Given the description of an element on the screen output the (x, y) to click on. 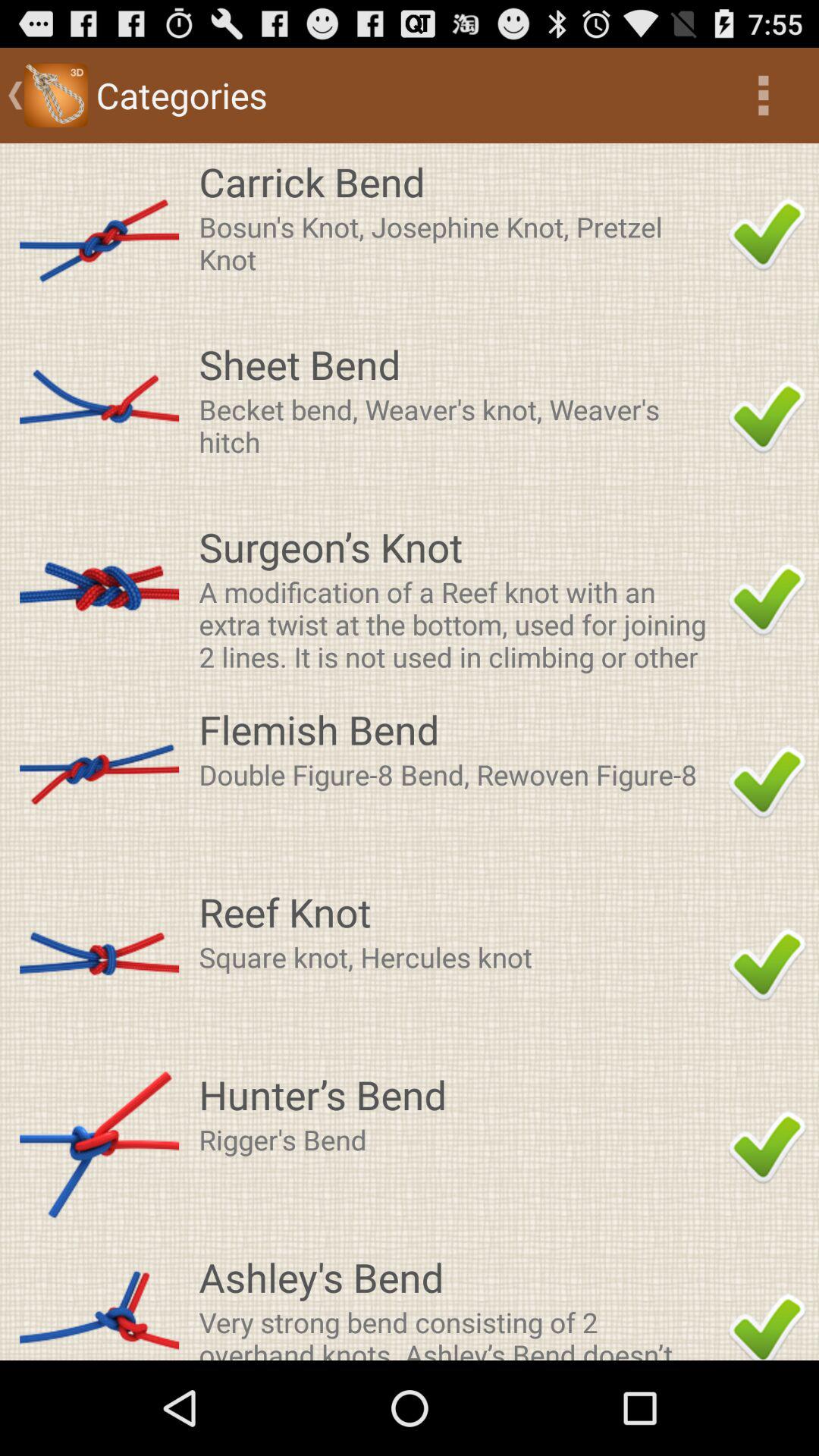
launch the app below ashley's bend icon (459, 1331)
